Given the description of an element on the screen output the (x, y) to click on. 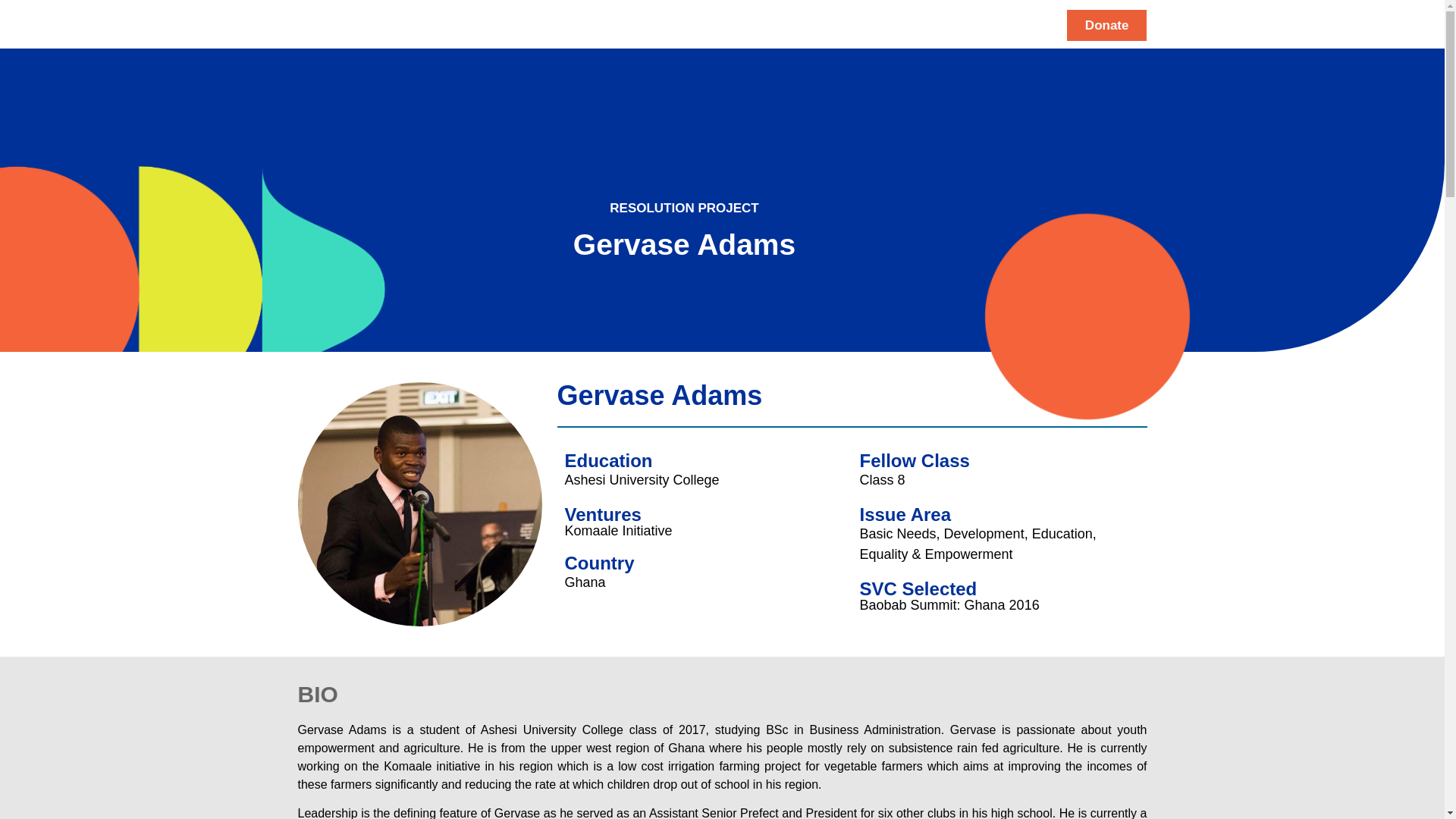
Volunteer (901, 24)
Impact (739, 24)
Initiatives (816, 24)
About (601, 24)
Home (540, 24)
Fellows (669, 24)
